Given the description of an element on the screen output the (x, y) to click on. 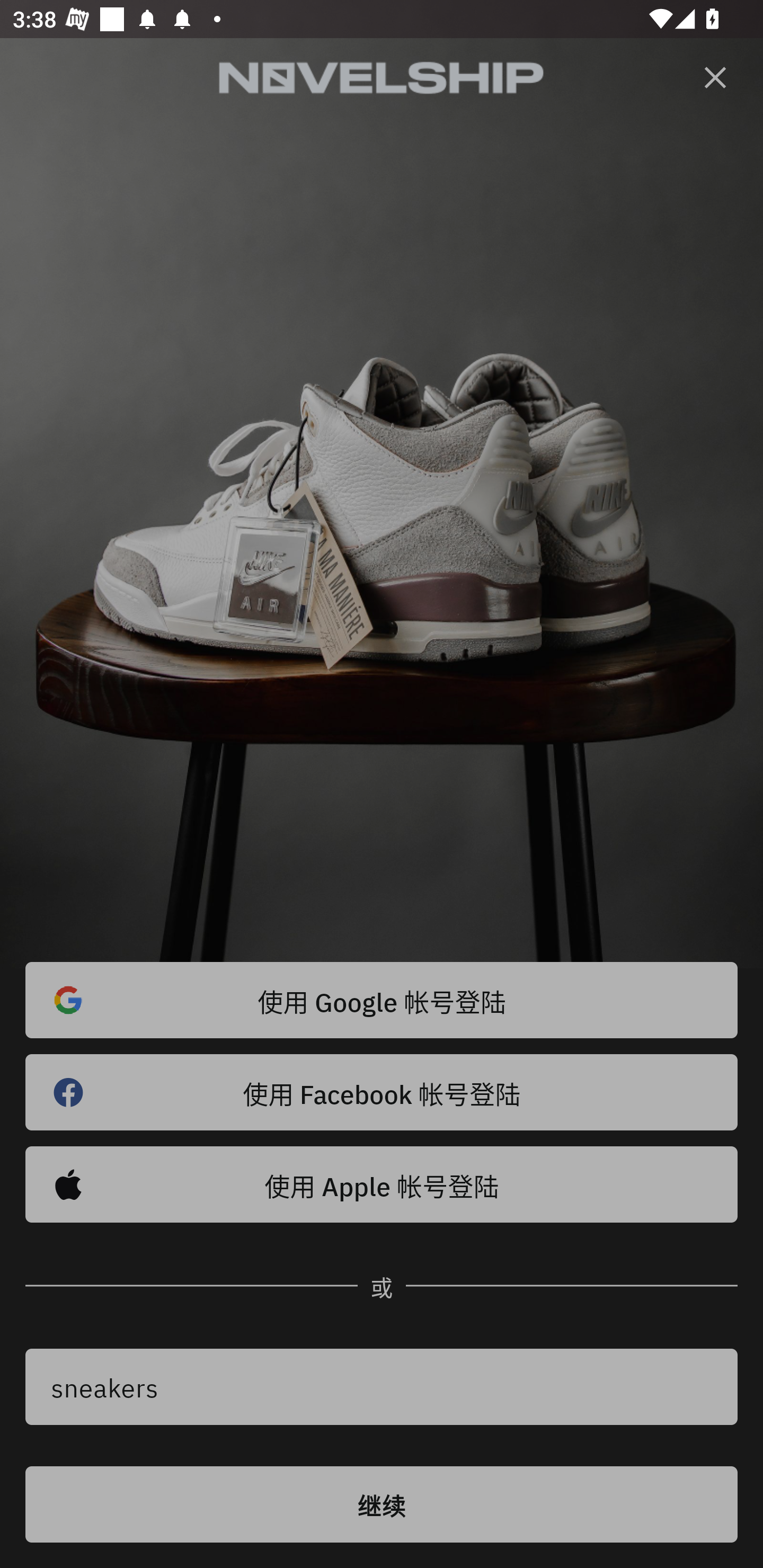
使用 Google 帐号登陆 (381, 1000)
使用 Facebook 帐号登陆 󰈌 (381, 1091)
 使用 Apple 帐号登陆 (381, 1184)
sneakers (381, 1386)
继续 (381, 1504)
